Given the description of an element on the screen output the (x, y) to click on. 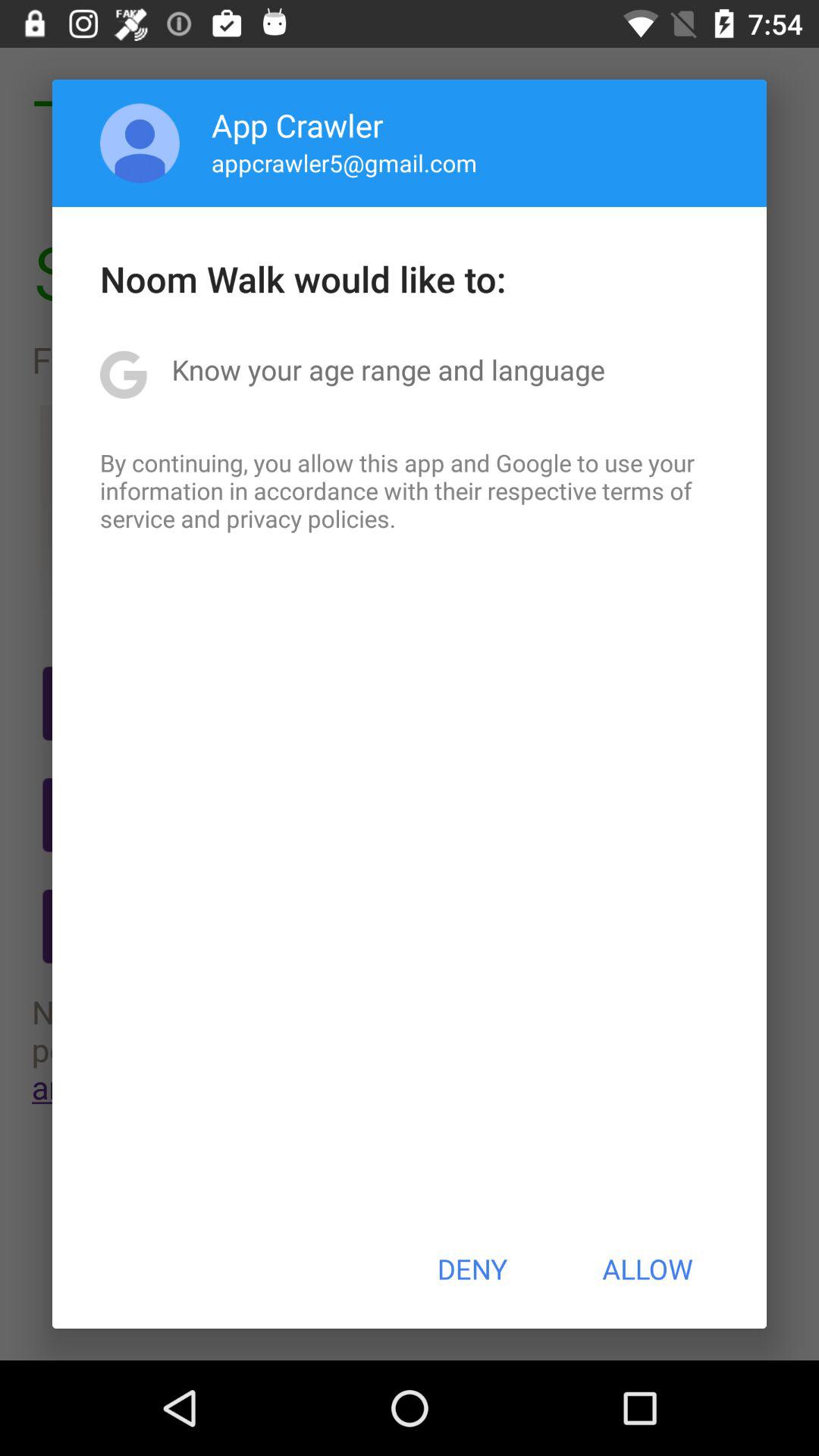
click the know your age app (388, 369)
